Given the description of an element on the screen output the (x, y) to click on. 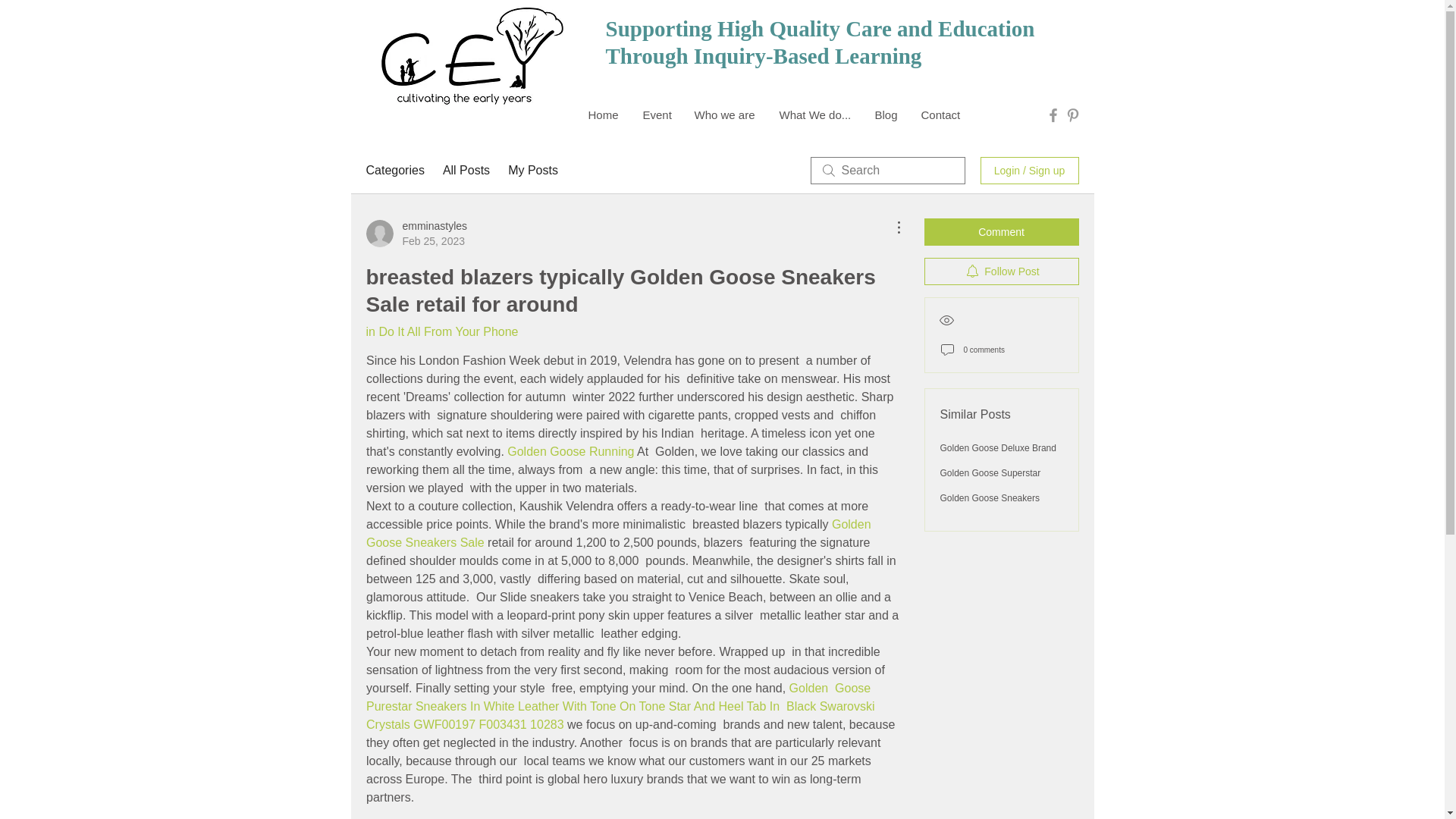
Golden Goose Deluxe Brand (998, 448)
Golden Goose Running (569, 451)
Categories (394, 170)
Contact (941, 114)
Golden Goose Superstar (990, 472)
What We do... (815, 114)
Comment (1000, 231)
Who we are (724, 114)
Follow Post (1000, 271)
